Given the description of an element on the screen output the (x, y) to click on. 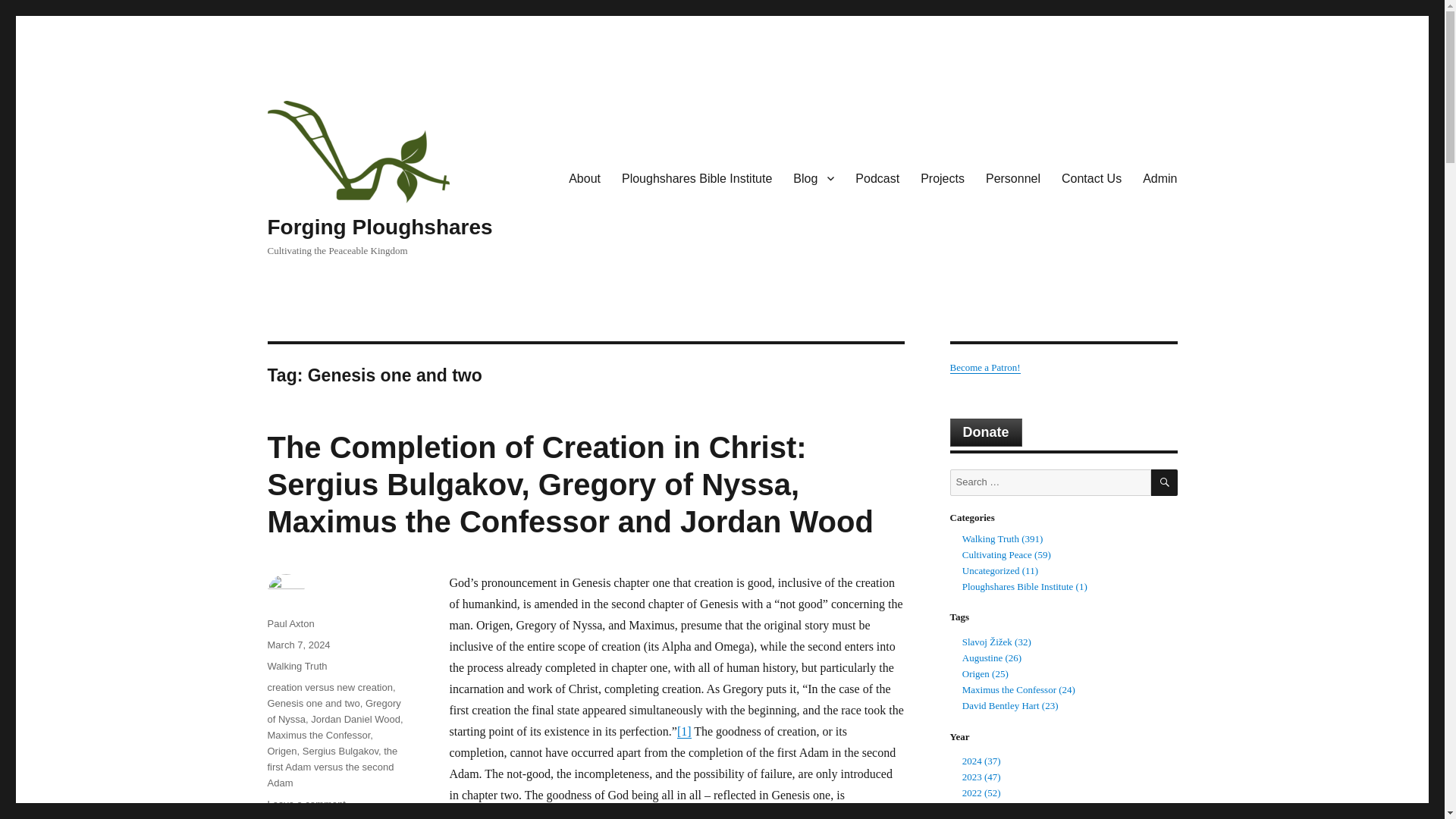
March 7, 2024 (298, 644)
creation versus new creation (328, 686)
Projects (942, 178)
Walking Truth (296, 665)
Contact Us (1091, 178)
Admin (1160, 178)
Paul Axton (290, 623)
Jordan Daniel Wood (355, 718)
Forging Ploughshares (379, 227)
